Given the description of an element on the screen output the (x, y) to click on. 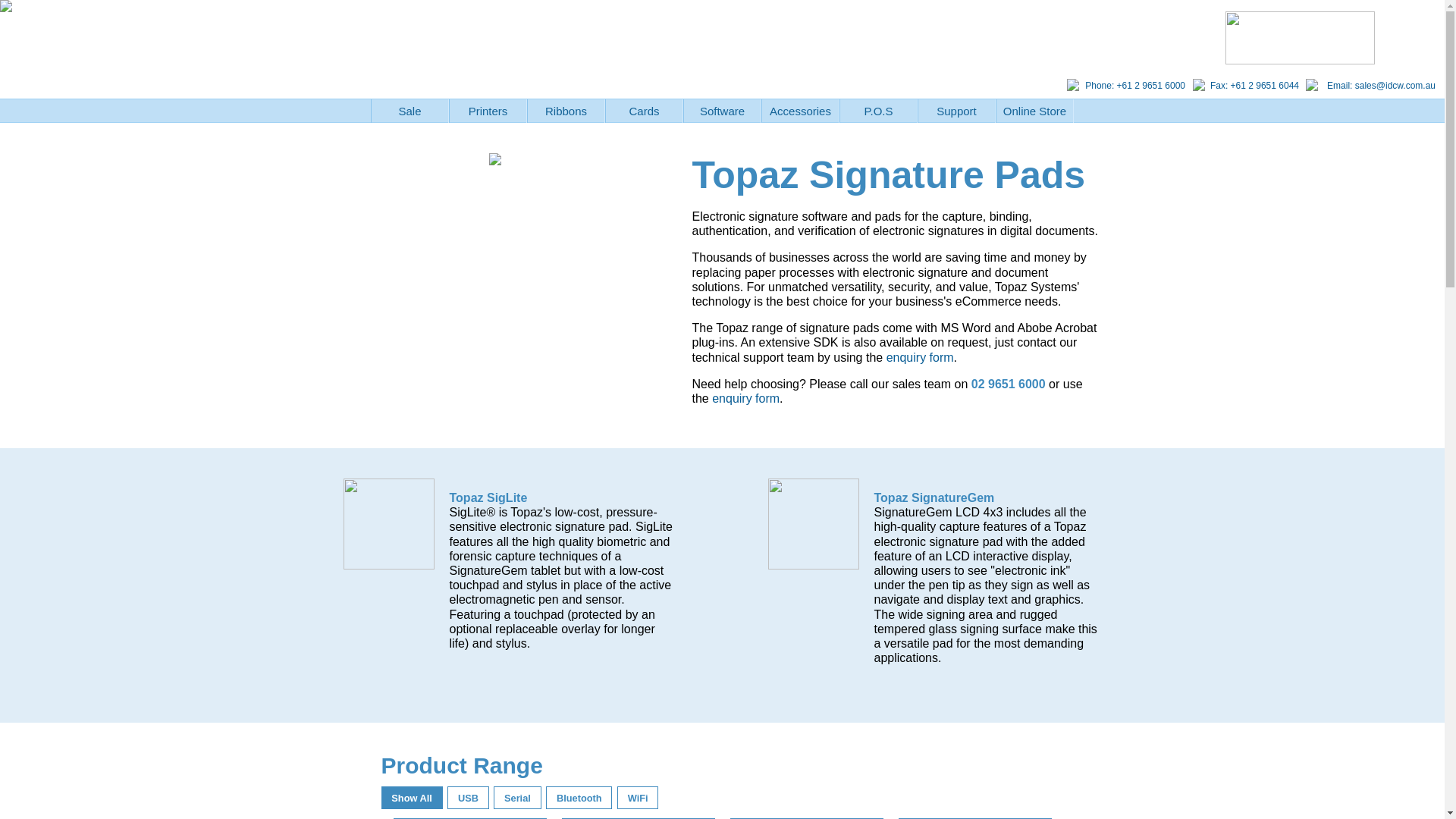
Bluetooth Element type: text (578, 797)
Online Store Element type: text (1034, 110)
WiFi Element type: text (637, 797)
Serial Element type: text (516, 797)
sales@idcw.com.au Element type: text (1395, 85)
Show All Element type: text (411, 797)
Cards Element type: text (644, 110)
Ribbons Element type: text (566, 110)
Printers Element type: text (487, 110)
Accessories Element type: text (800, 110)
Software Element type: text (722, 110)
enquiry form Element type: text (919, 356)
P.O.S Element type: text (878, 110)
enquiry form Element type: text (745, 398)
USB Element type: text (468, 797)
Sale Element type: text (409, 110)
Support Element type: text (956, 110)
